Given the description of an element on the screen output the (x, y) to click on. 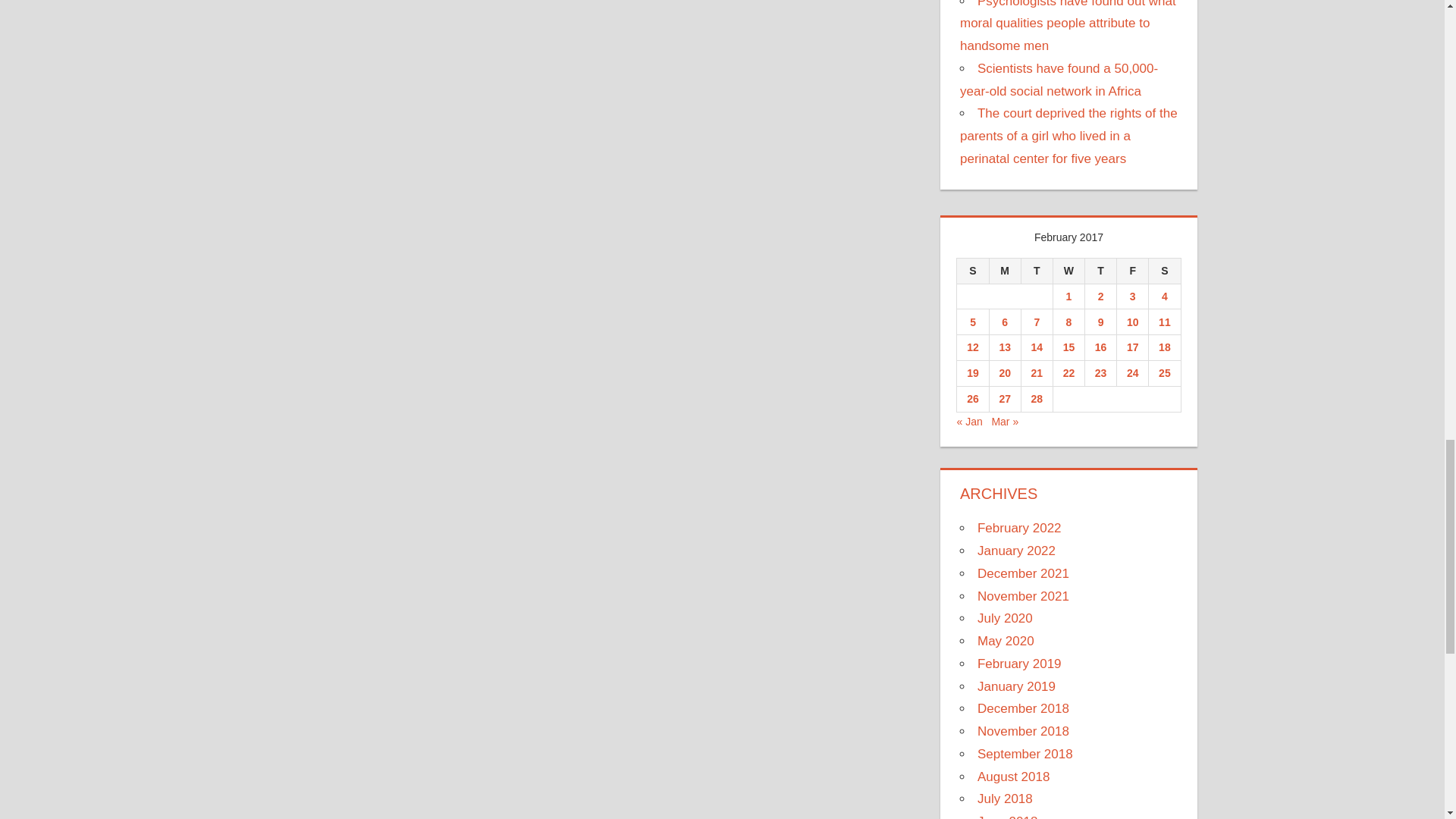
Tuesday (1036, 270)
Wednesday (1068, 270)
Friday (1132, 270)
Sunday (972, 270)
Monday (1004, 270)
Thursday (1100, 270)
Saturday (1164, 270)
